Given the description of an element on the screen output the (x, y) to click on. 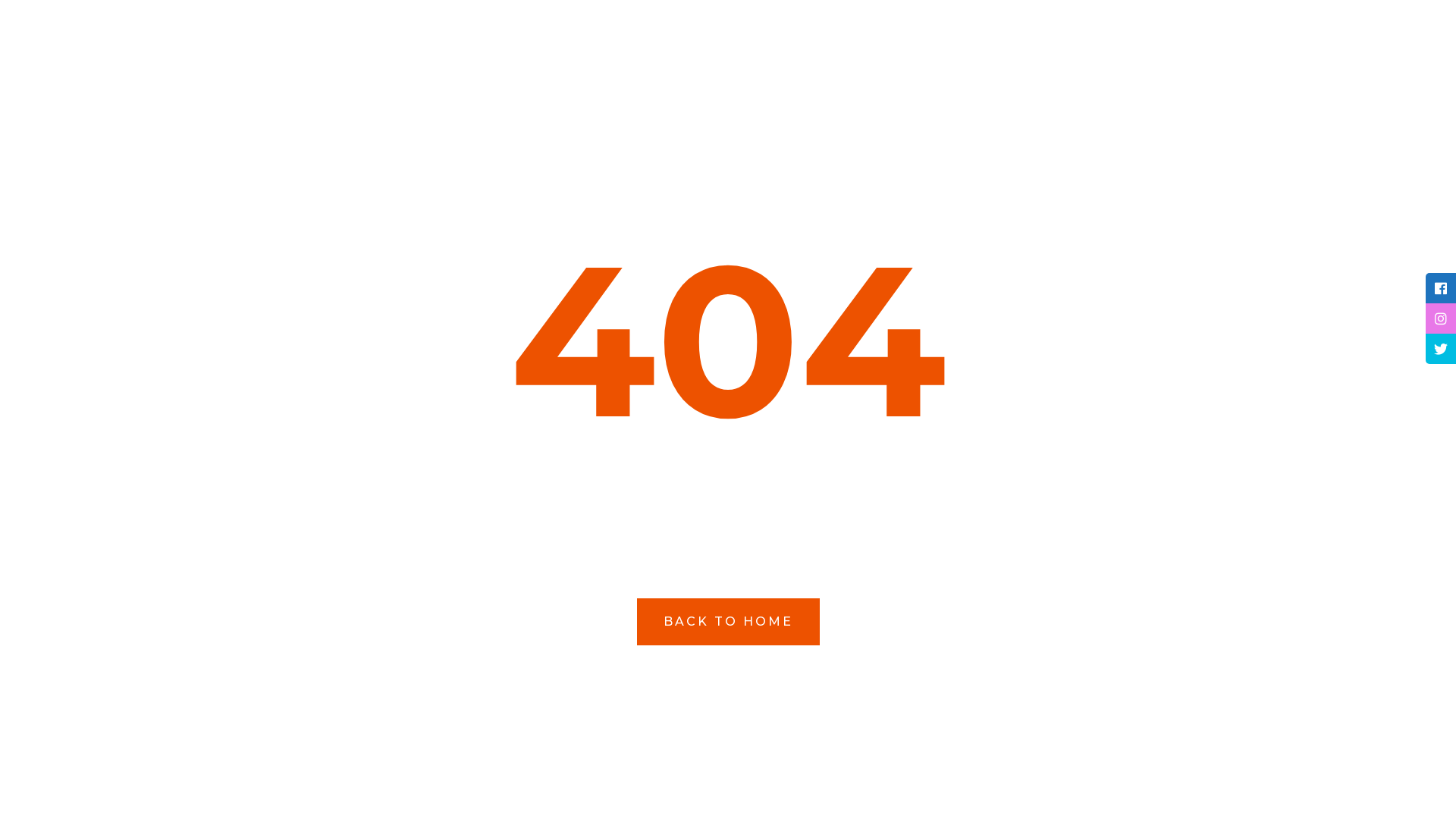
BACK TO HOME Element type: text (728, 620)
